Given the description of an element on the screen output the (x, y) to click on. 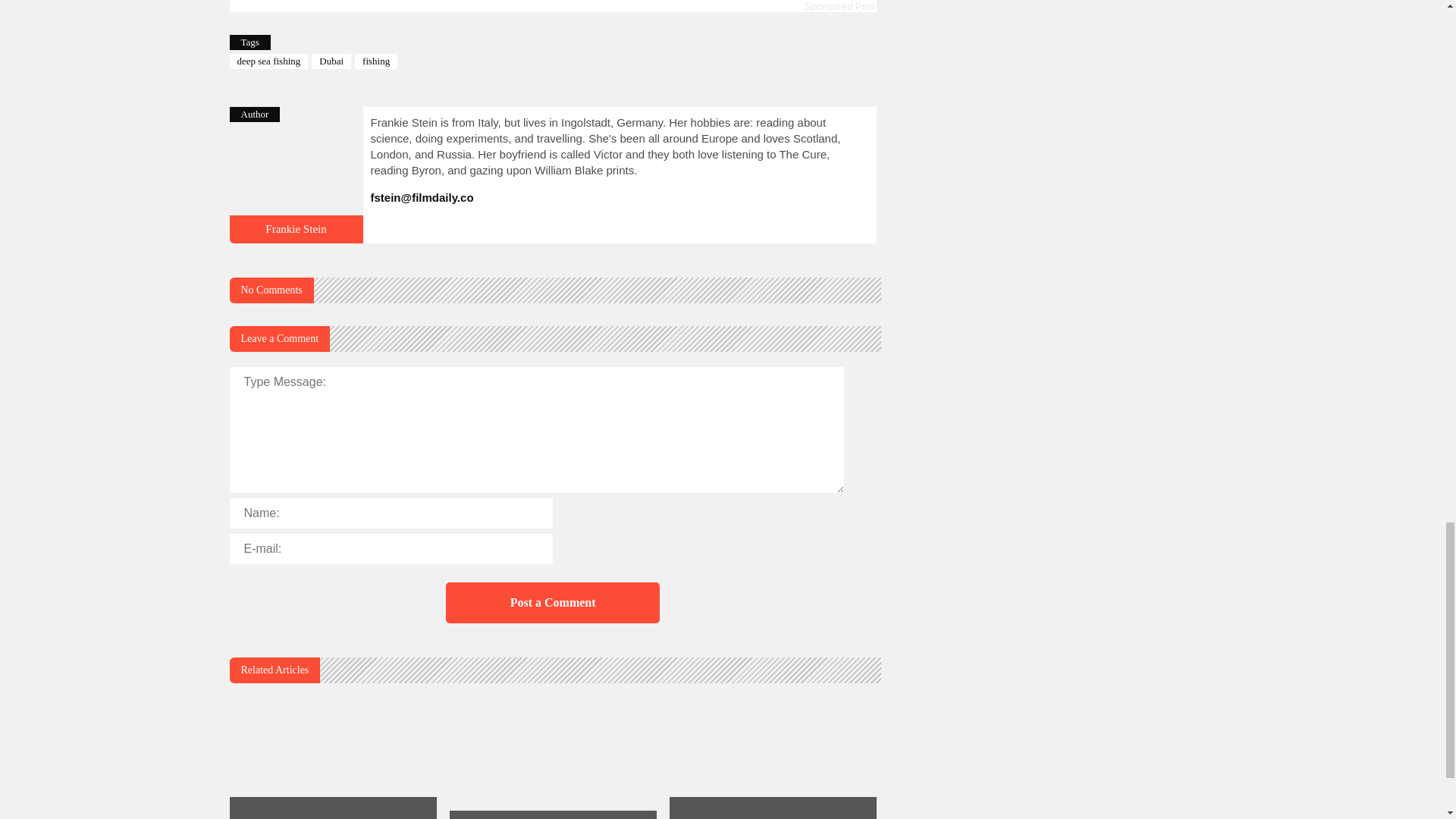
Top 5 Fun Dubai Deep Sea Fishing Facts (295, 228)
Top 5 Fun Dubai Deep Sea Fishing Facts (295, 236)
Post a Comment (552, 602)
